Given the description of an element on the screen output the (x, y) to click on. 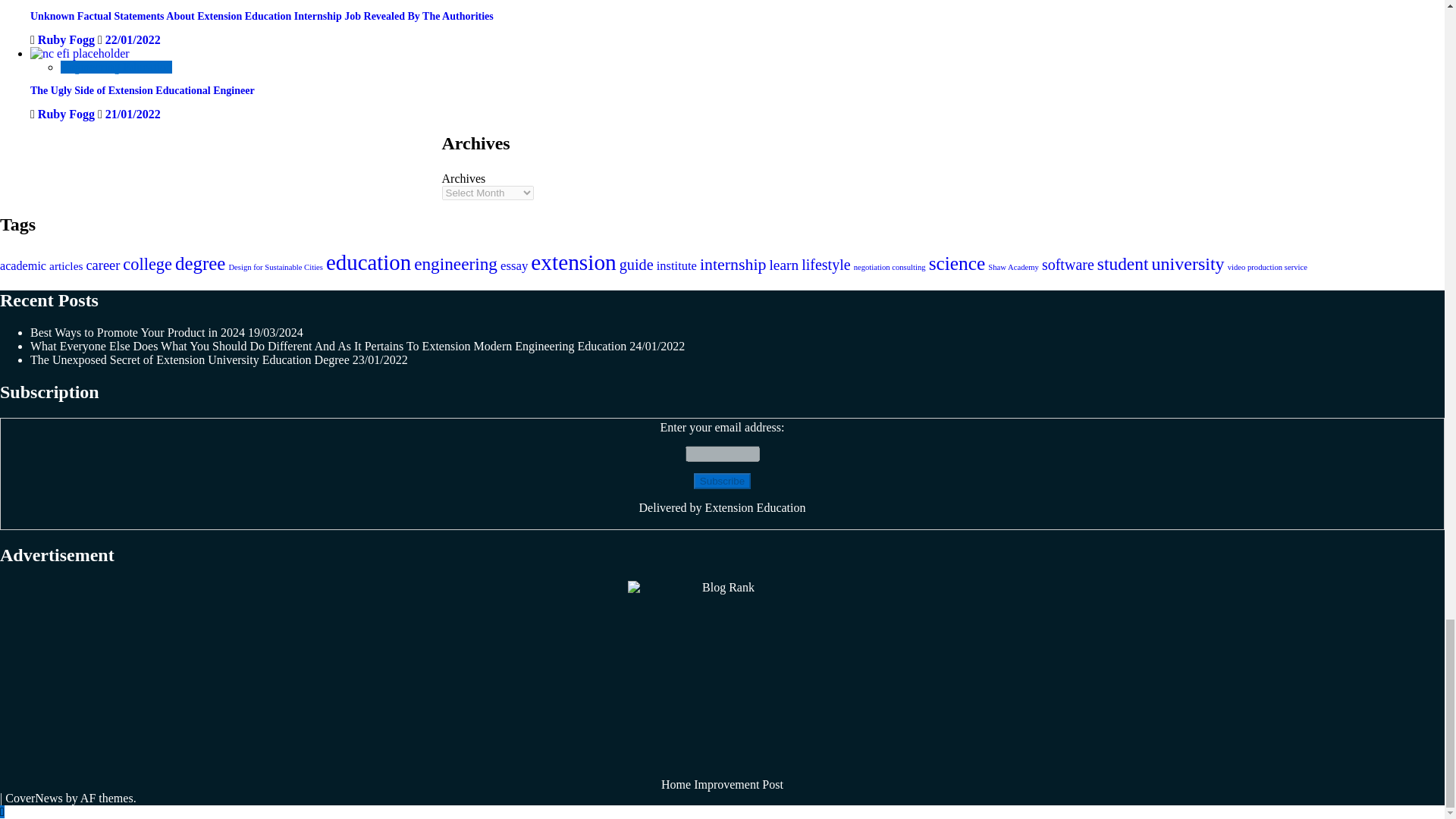
Subscribe (722, 480)
